Given the description of an element on the screen output the (x, y) to click on. 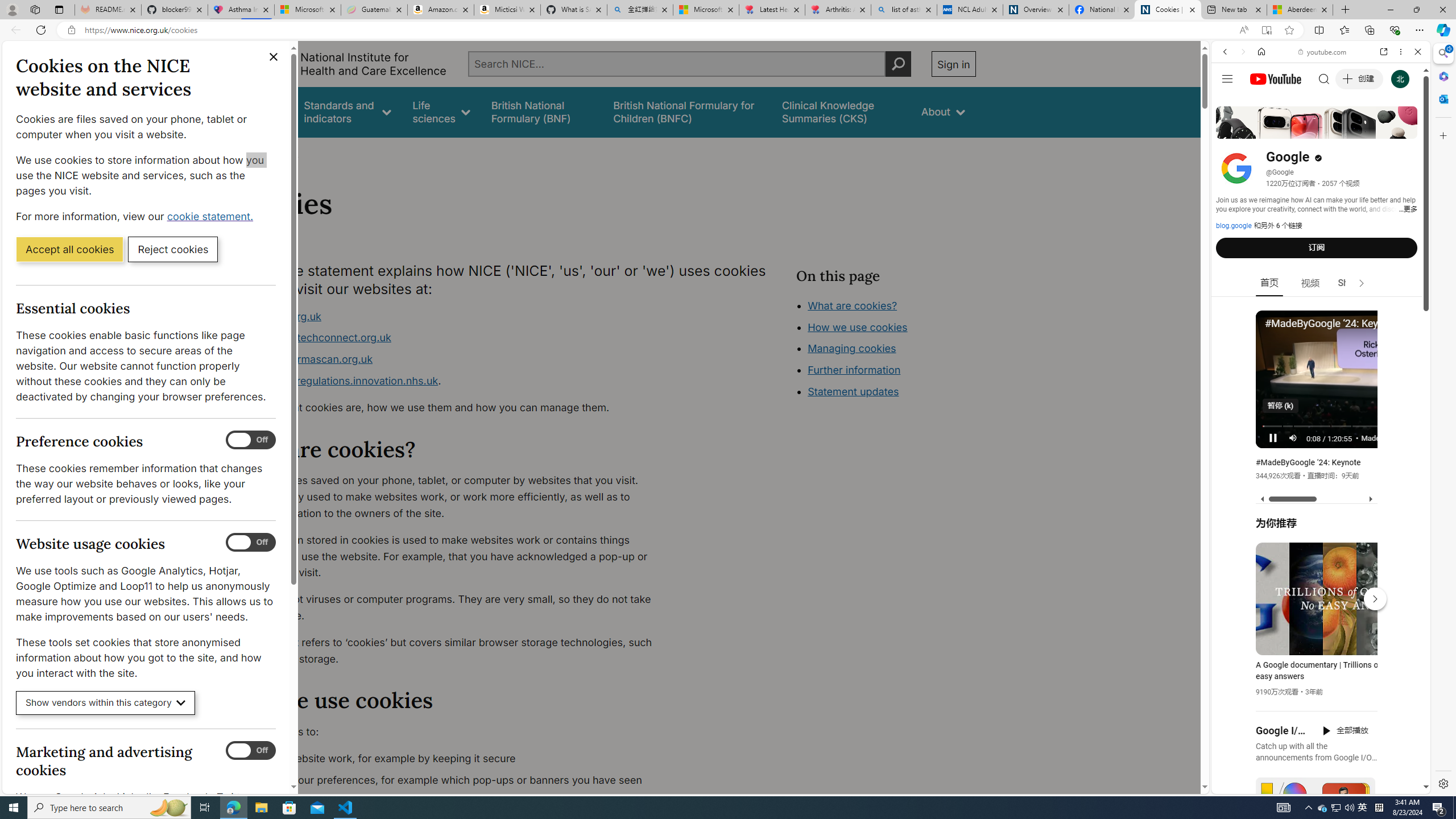
Marketing and advertising cookies (250, 750)
Managing cookies (852, 348)
US[ju] (1249, 785)
Close cookie banner (273, 56)
